Given the description of an element on the screen output the (x, y) to click on. 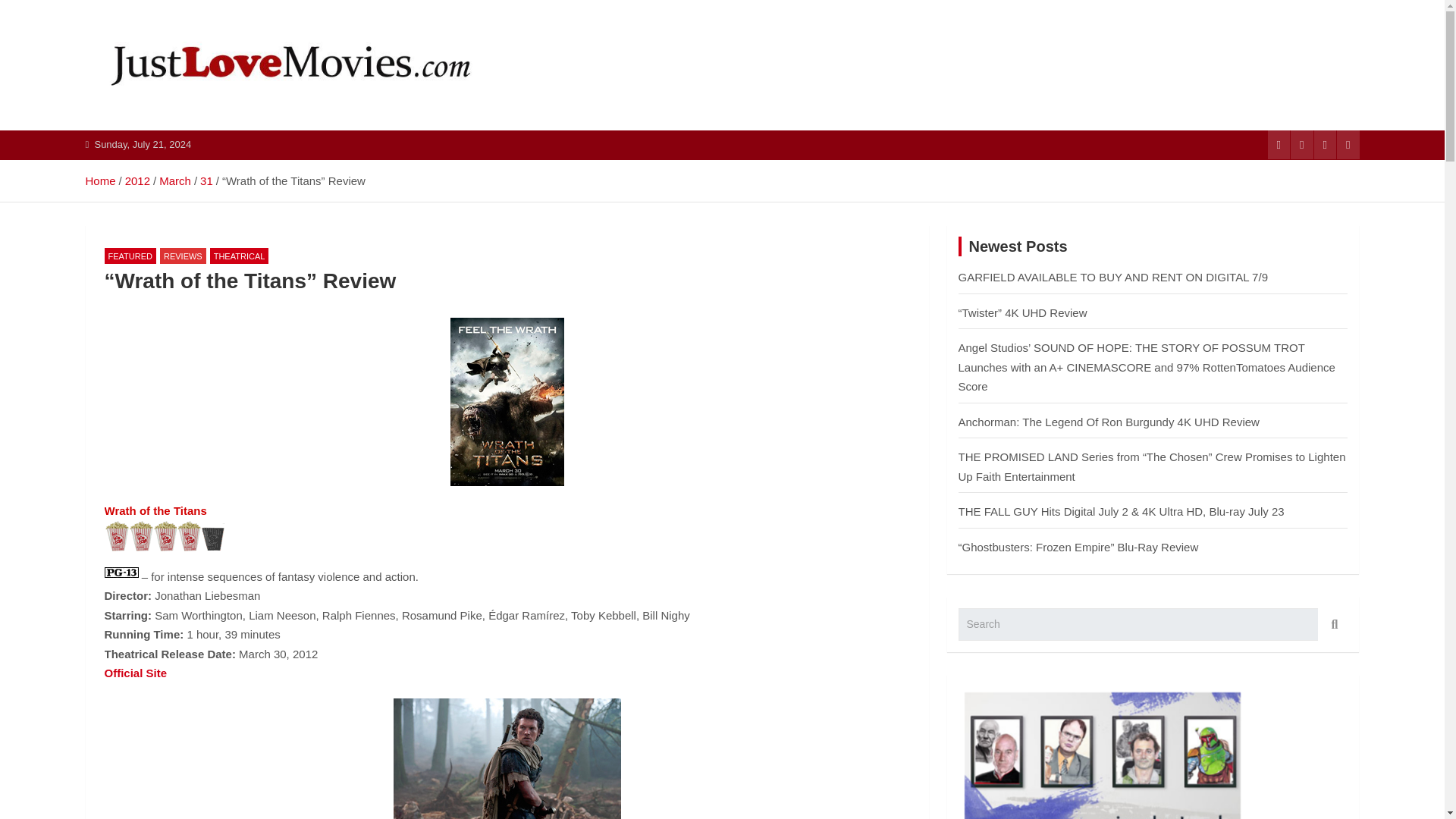
Official Site (135, 672)
Home (99, 180)
REVIEWS (183, 255)
THEATRICAL (239, 255)
31 (206, 180)
2012 (137, 180)
Just Love Movies (210, 127)
FEATURED (129, 255)
March (174, 180)
